Given the description of an element on the screen output the (x, y) to click on. 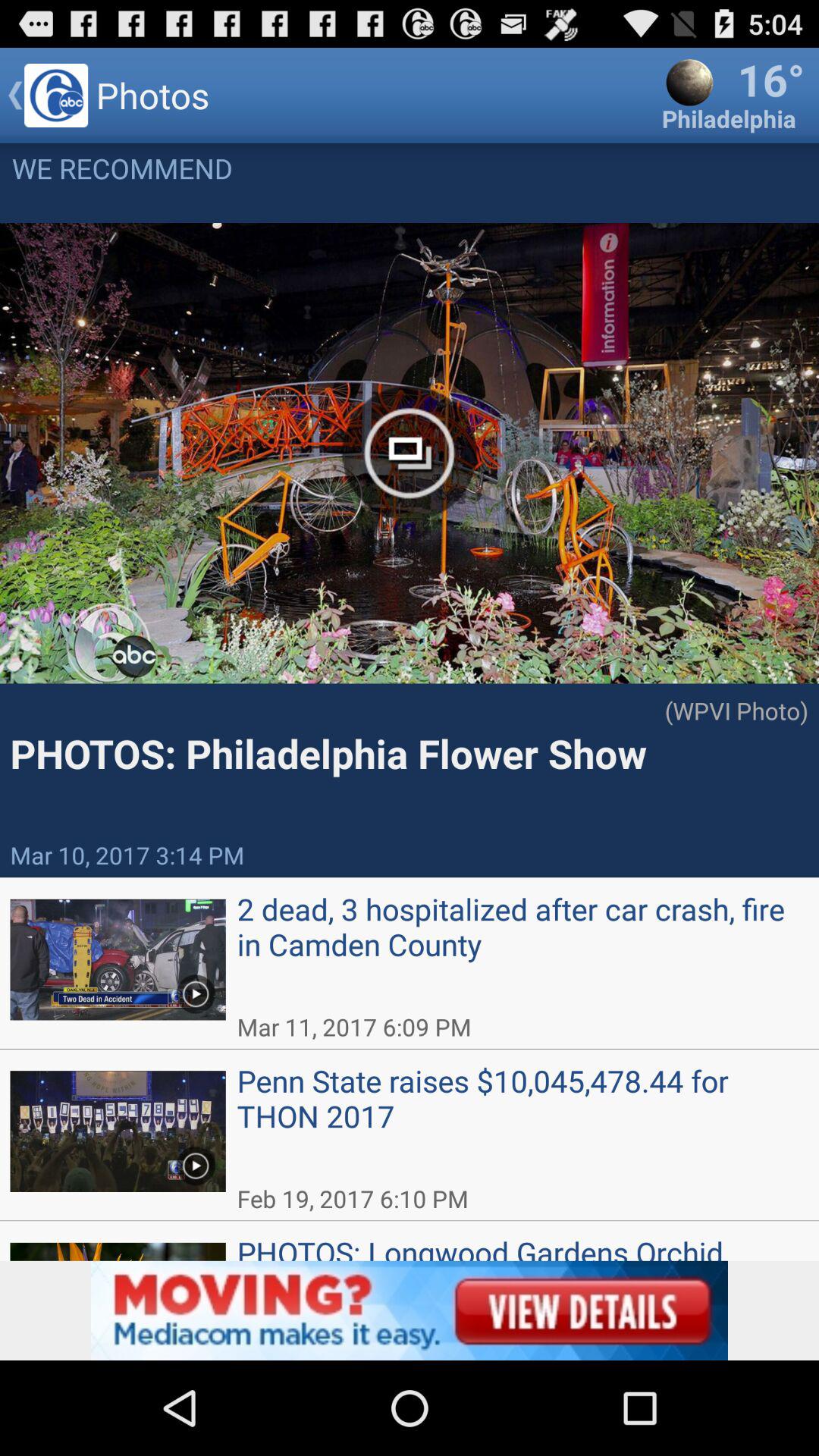
advertisement (409, 1310)
